Given the description of an element on the screen output the (x, y) to click on. 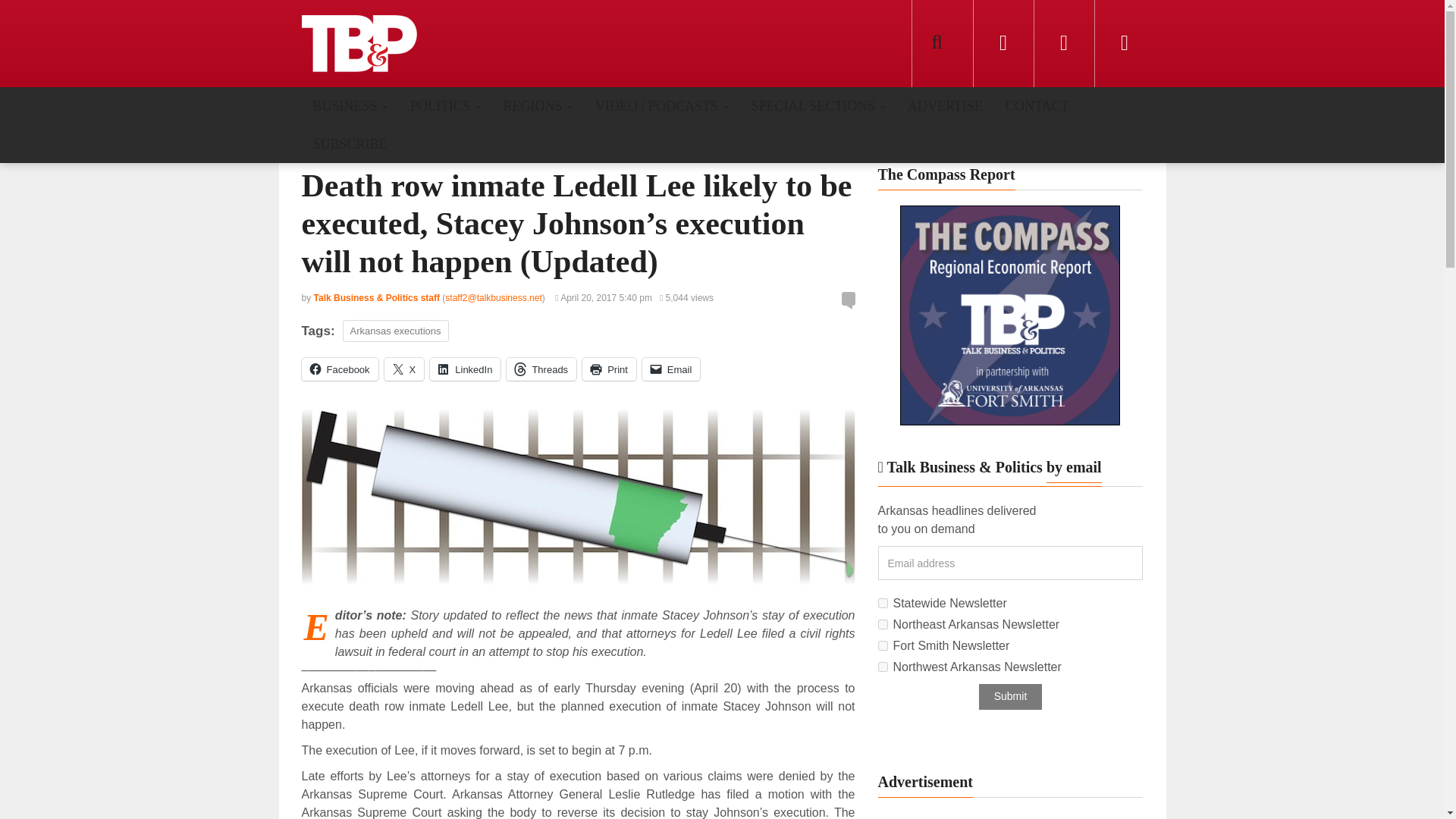
0dbc242577 (882, 624)
Click to print (609, 368)
bfd07a2f6a (882, 645)
Click to share on LinkedIn (464, 368)
BUSINESS (349, 105)
Click to share on X (404, 368)
Click to email a link to a friend (671, 368)
a8cb0d3206 (882, 603)
Click to share on Facebook (339, 368)
536baa6e11 (882, 666)
